Given the description of an element on the screen output the (x, y) to click on. 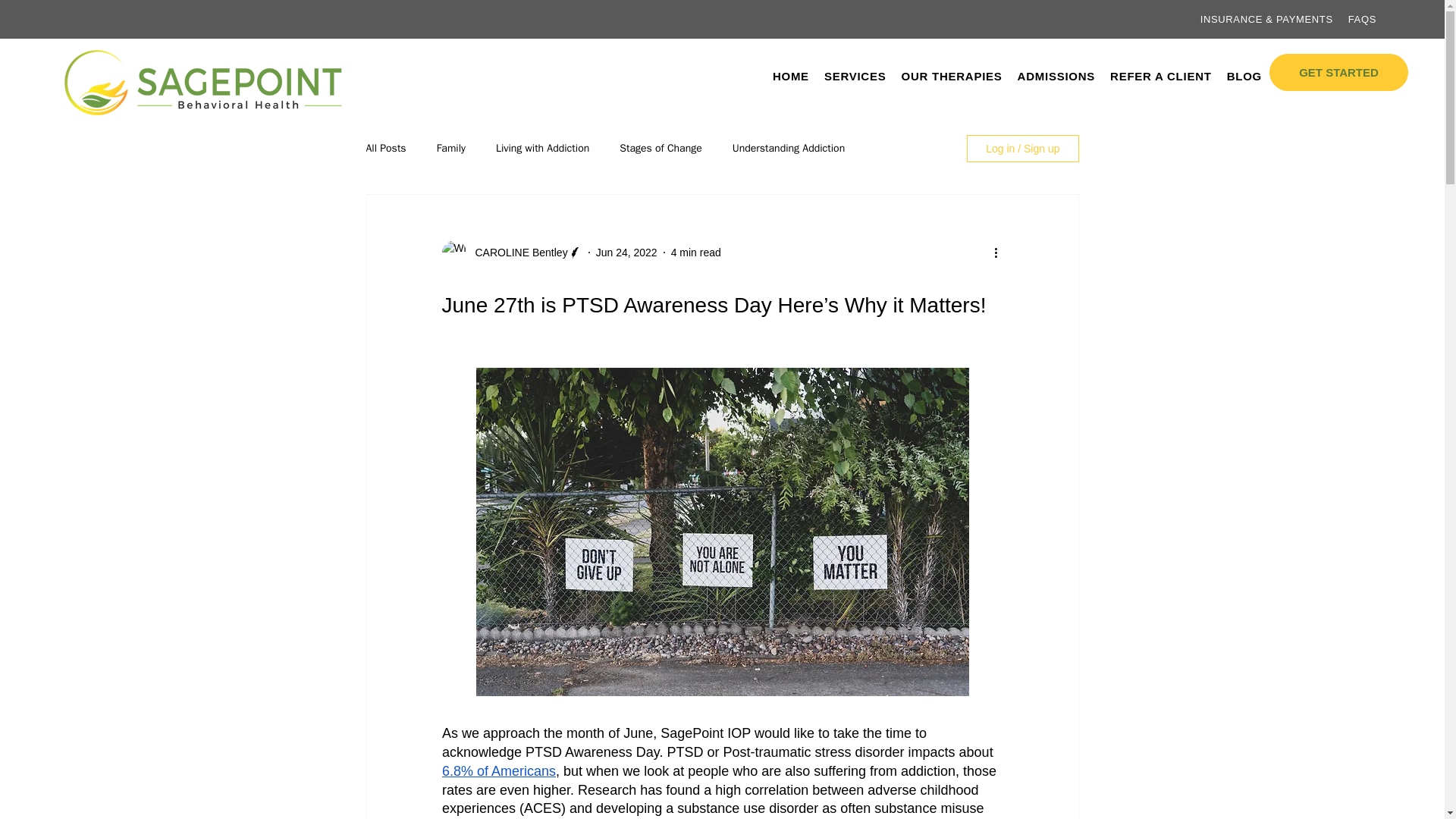
Living with Addiction (542, 148)
HOME (790, 75)
CAROLINE Bentley (516, 252)
4 min read (695, 251)
FAQS (1362, 18)
Family (981, 75)
GET STARTED (450, 148)
Jun 24, 2022 (1338, 72)
ADMISSIONS (626, 251)
Understanding Addiction (1056, 75)
BLOG (788, 148)
REFER A CLIENT (1244, 75)
SERVICES (1161, 75)
Stages of Change (854, 75)
